Given the description of an element on the screen output the (x, y) to click on. 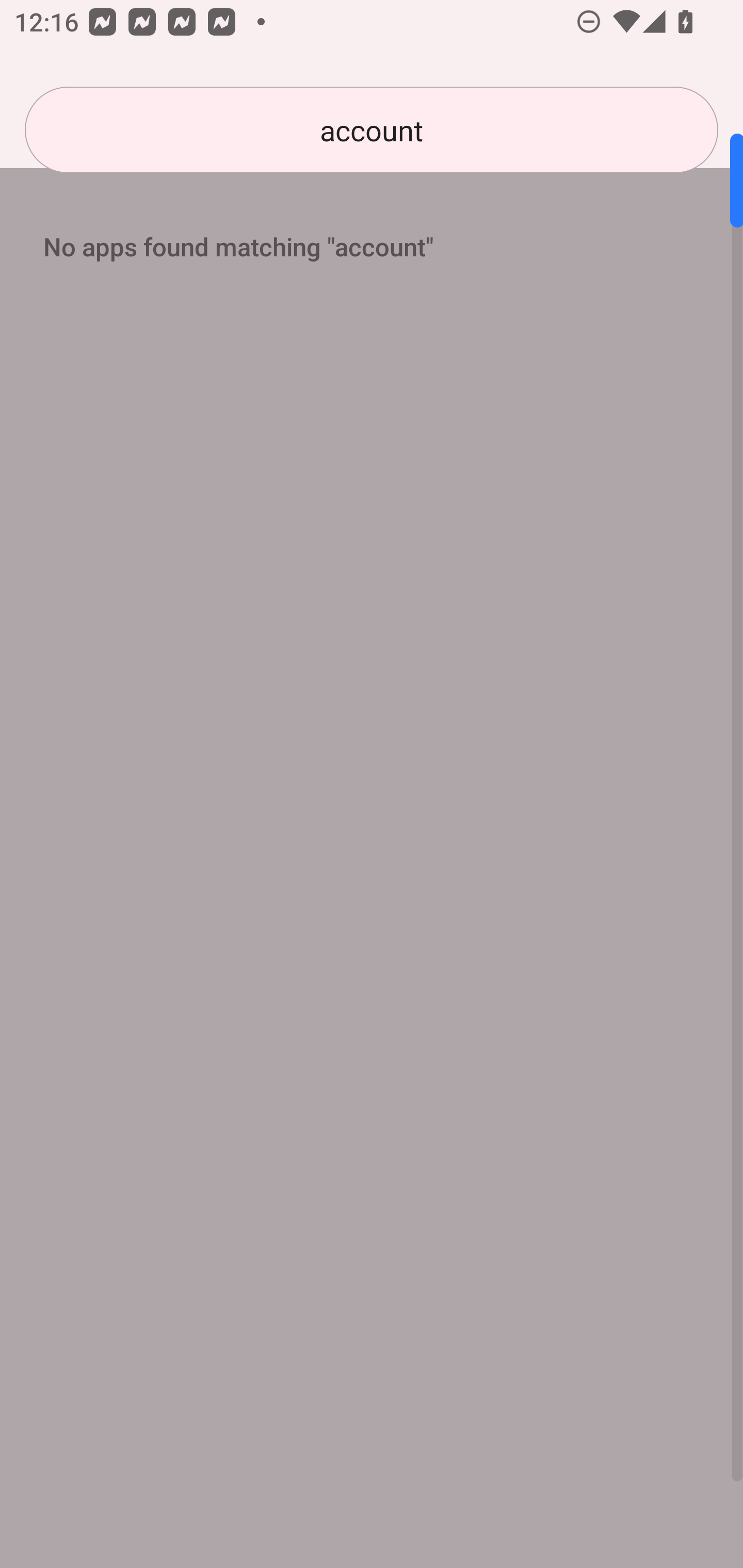
account (371, 130)
